Given the description of an element on the screen output the (x, y) to click on. 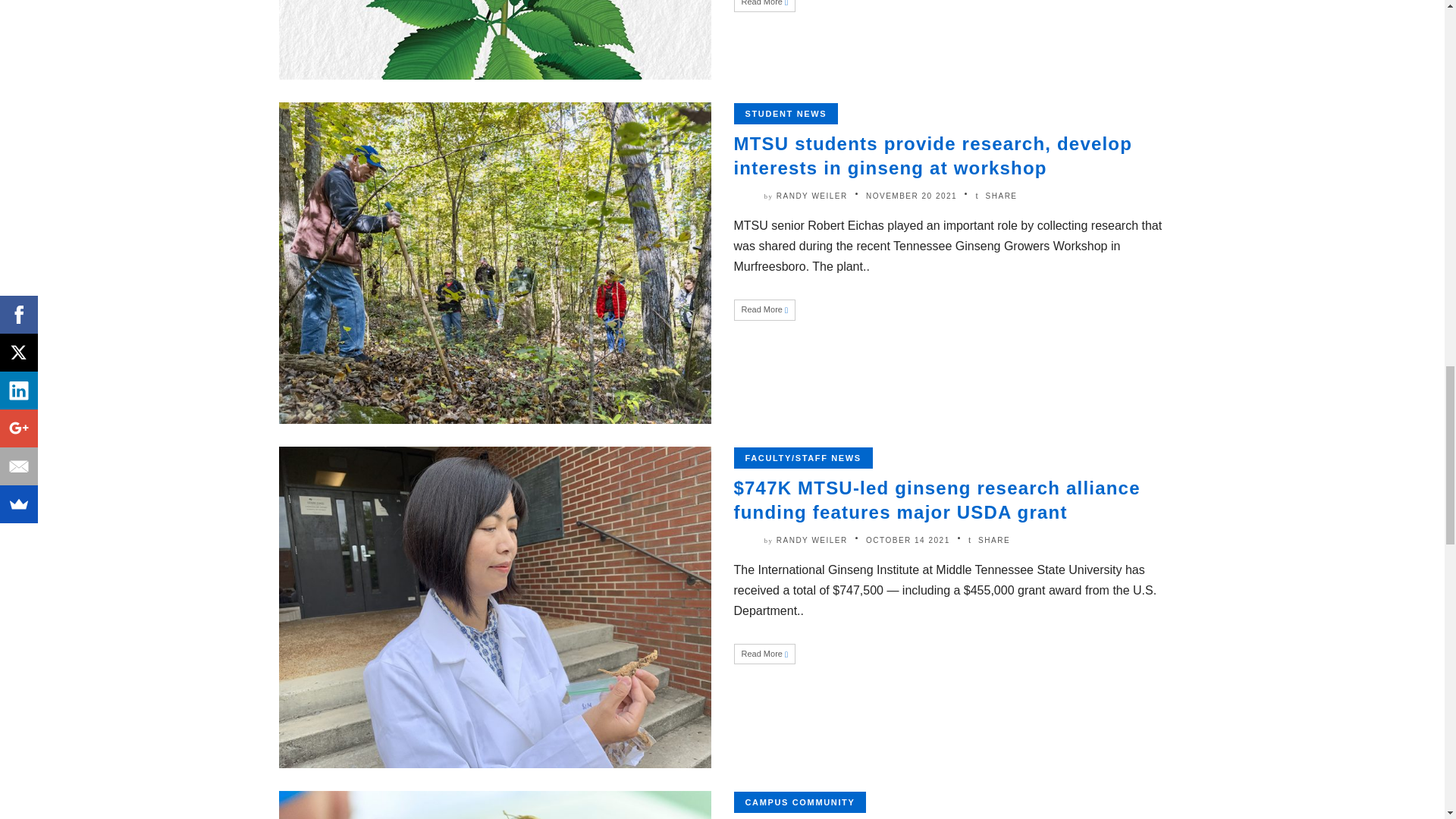
Posts by Randy Weiler (811, 195)
November 20, 2021 3:54 (911, 195)
